Given the description of an element on the screen output the (x, y) to click on. 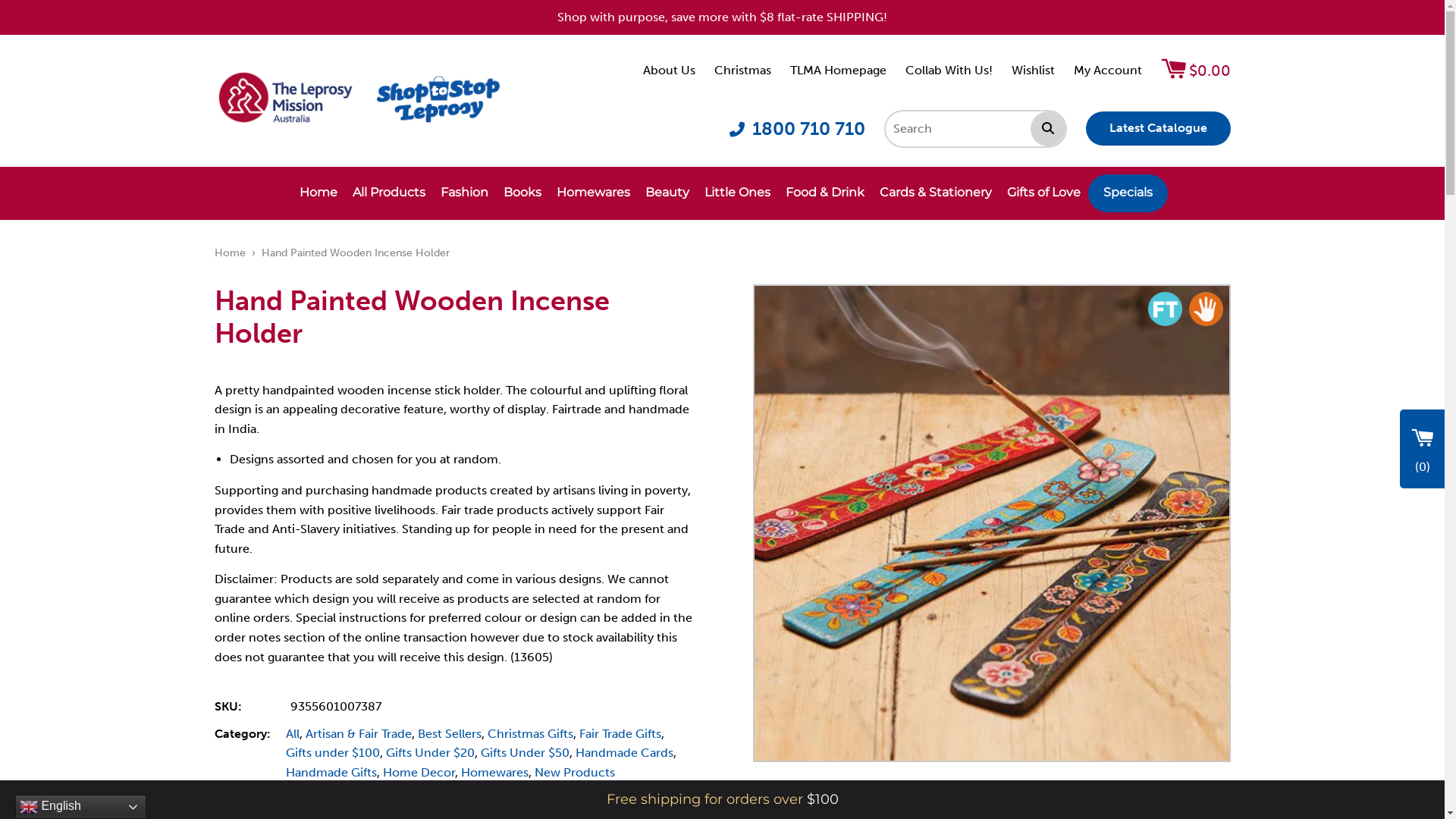
Little Ones Element type: text (737, 193)
Homewares Element type: text (593, 193)
Home Element type: text (318, 193)
Homewares Element type: text (494, 772)
Specials Element type: text (1127, 193)
Christmas Gifts Element type: text (529, 733)
Wishlist Element type: text (1032, 69)
Products handmade by artisans Element type: hover (1206, 308)
(0) Element type: text (1421, 448)
1800 710 710 Element type: text (797, 128)
Fair Trade Element type: hover (1165, 308)
Fashion Element type: text (464, 193)
$0.00 Element type: text (1195, 70)
About Us Element type: text (669, 69)
Christmas Element type: text (742, 69)
Beauty Element type: text (666, 193)
Shop with purpose, save more with $8 flat-rate SHIPPING! Element type: text (722, 16)
Handmade Gifts Element type: text (330, 772)
All Element type: text (291, 733)
Home Decor Element type: text (418, 772)
Handmade Cards Element type: text (623, 752)
My Account Element type: text (1107, 69)
Home Element type: text (229, 252)
Latest Catalogue Element type: text (1157, 128)
Best Sellers Element type: text (448, 733)
Cards & Stationery Element type: text (935, 193)
New Products Element type: text (573, 772)
Gifts of Love Element type: text (1043, 193)
Collab With Us! Element type: text (948, 69)
TLMA Homepage Element type: text (838, 69)
Artisan & Fair Trade Element type: text (357, 733)
Gifts Under $50 Element type: text (524, 752)
All Products Element type: text (389, 193)
Gifts under $100 Element type: text (332, 752)
Books Element type: text (522, 193)
Gifts Under $20 Element type: text (429, 752)
Fair Trade Gifts Element type: text (620, 733)
Food & Drink Element type: text (825, 193)
